Given the description of an element on the screen output the (x, y) to click on. 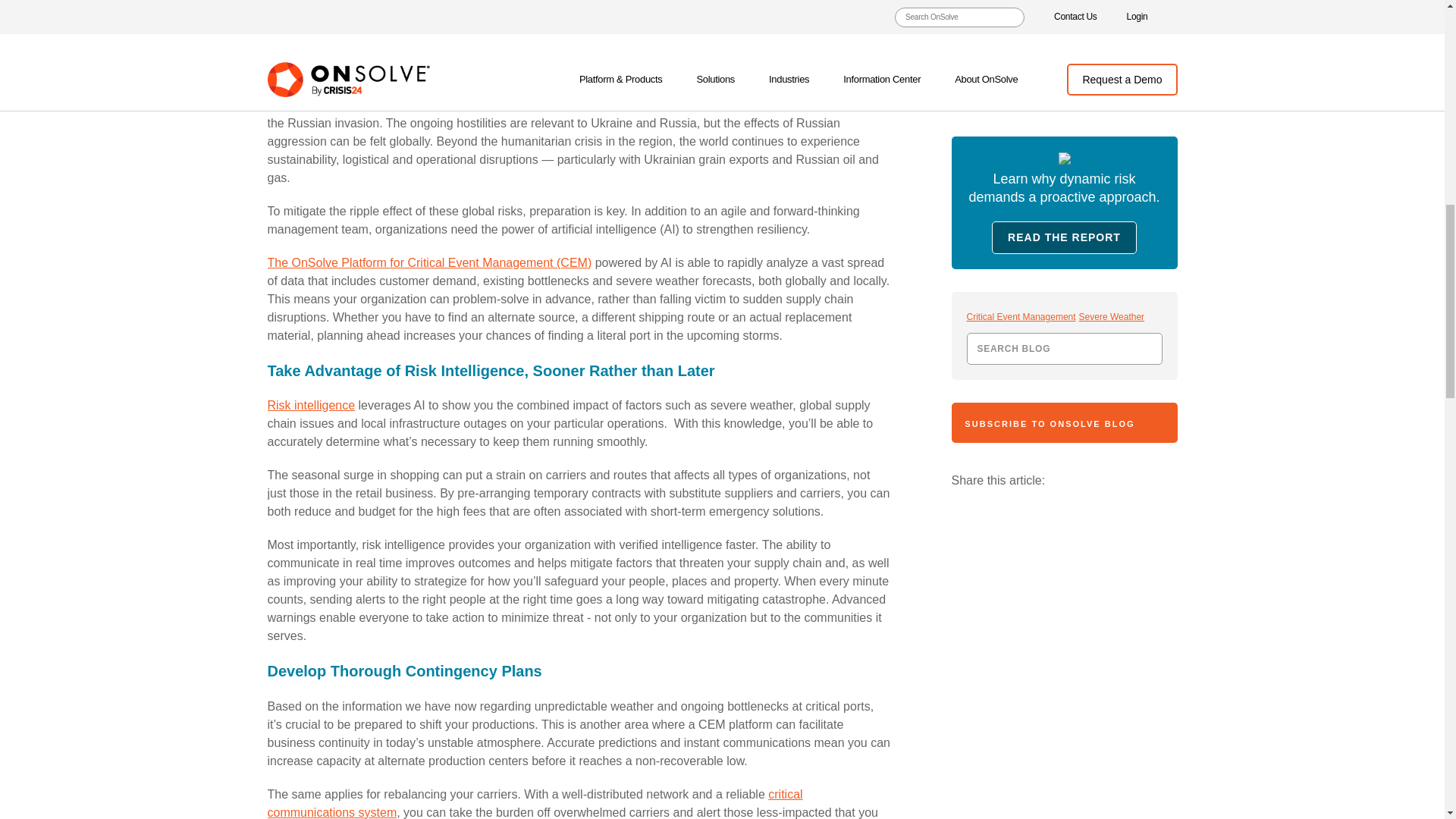
Tweet (1112, 36)
Share on Facebook (1079, 36)
Share on LinkedIn (1146, 36)
